Given the description of an element on the screen output the (x, y) to click on. 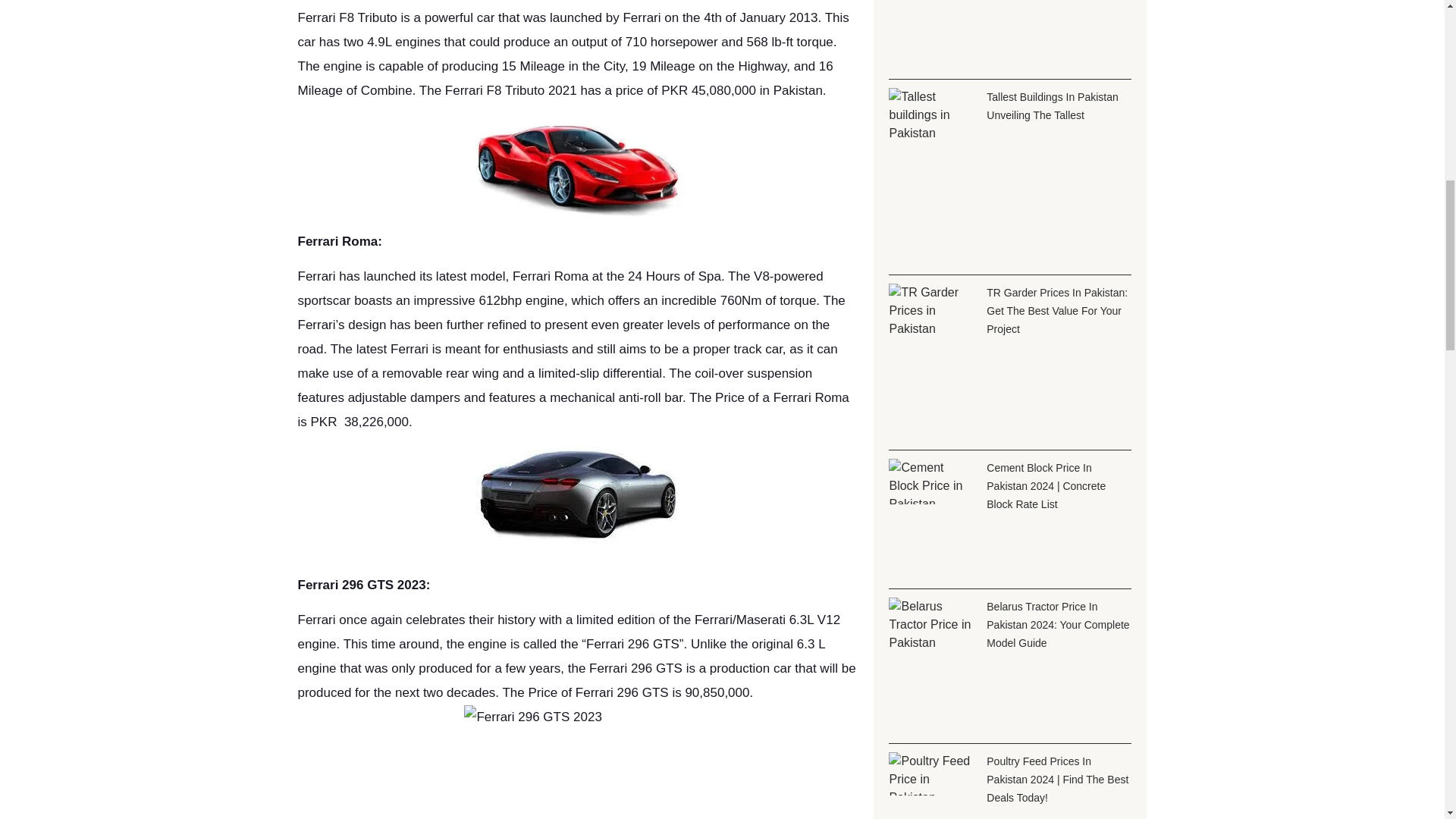
Tallest Buildings In Pakistan Unveiling The Tallest (1052, 105)
